Given the description of an element on the screen output the (x, y) to click on. 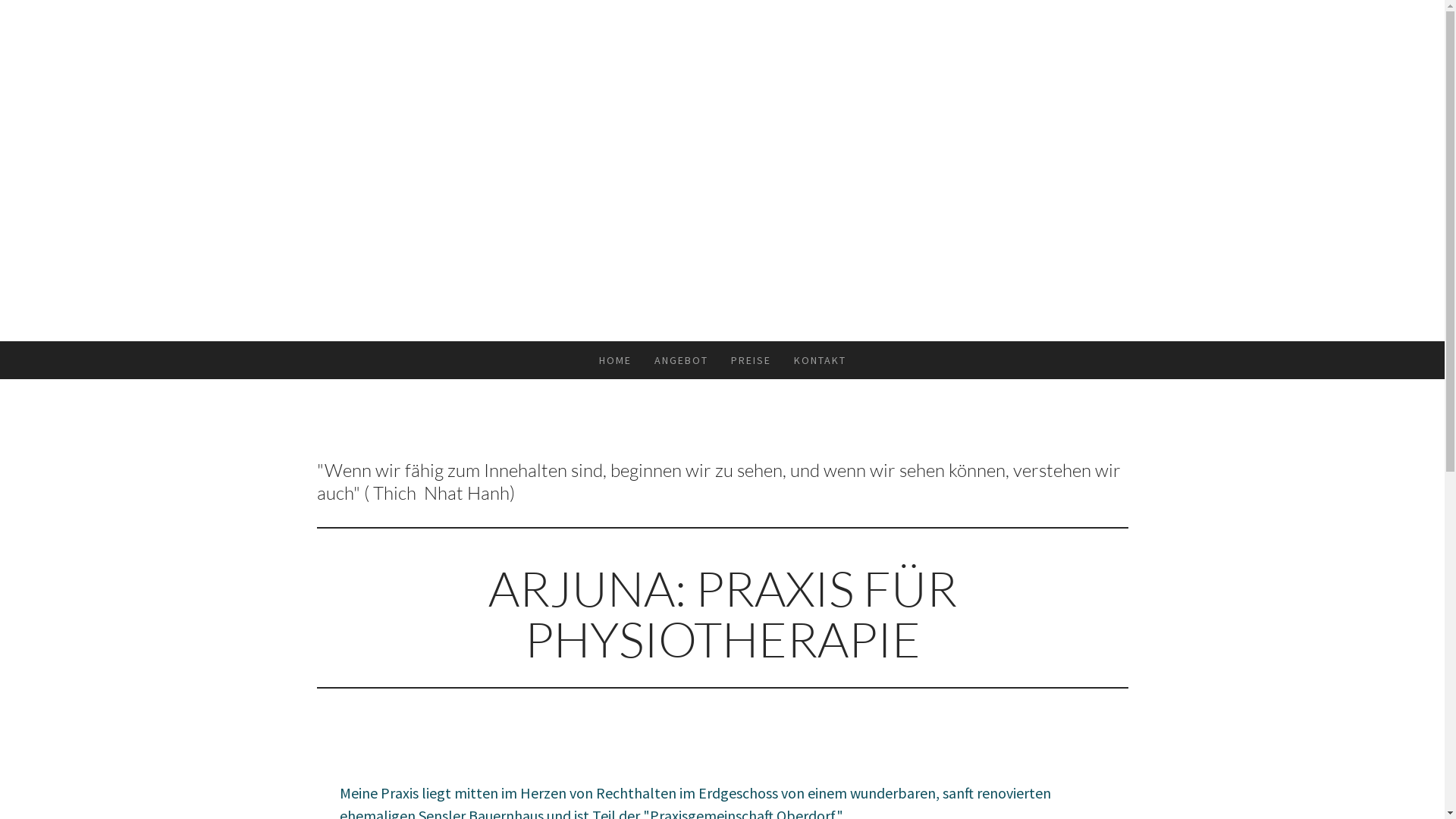
PREISE Element type: text (749, 360)
ANGEBOT Element type: text (681, 360)
KONTAKT Element type: text (819, 360)
HOME Element type: text (614, 360)
